Given the description of an element on the screen output the (x, y) to click on. 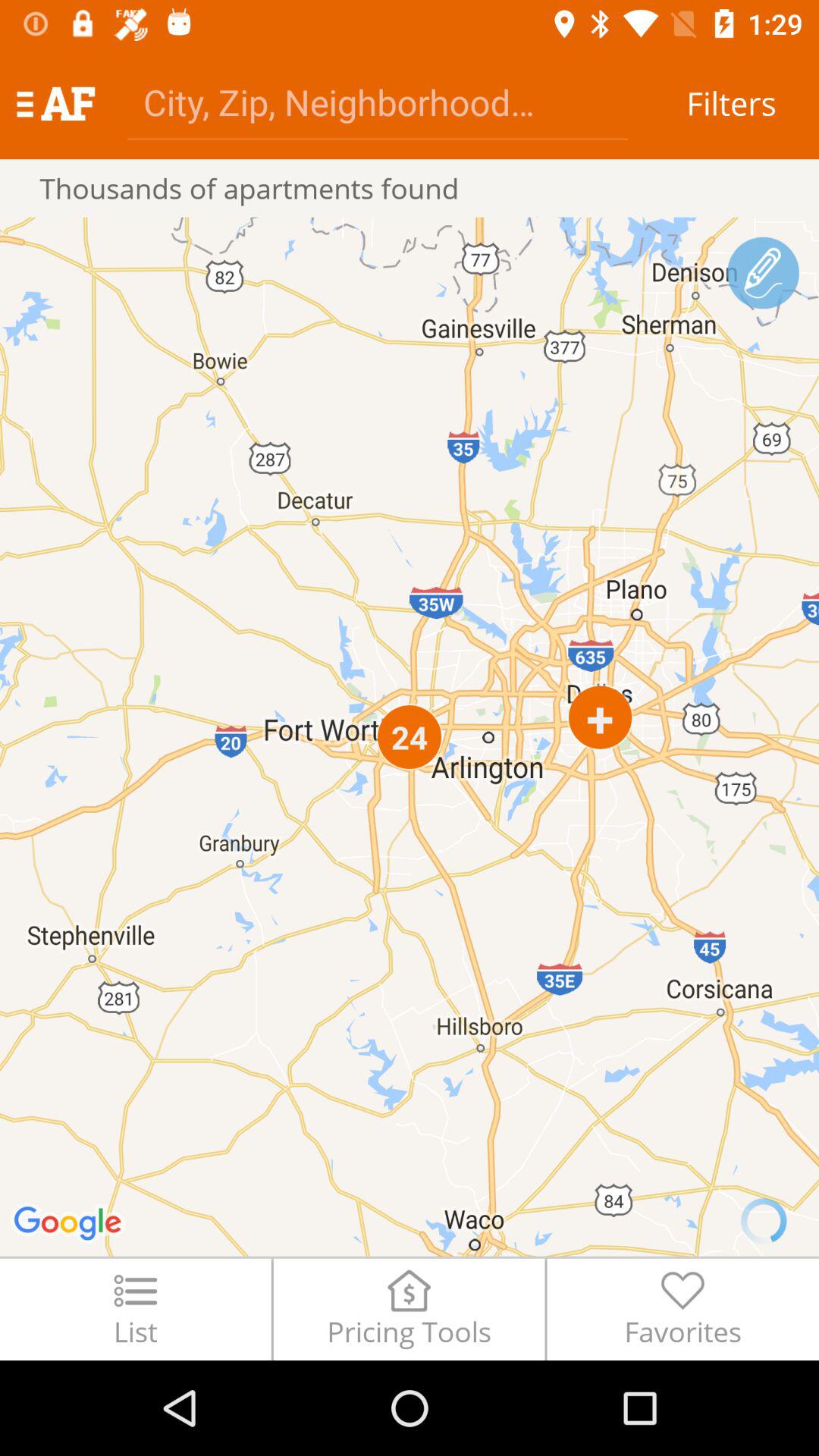
turn off favorites icon (683, 1309)
